Given the description of an element on the screen output the (x, y) to click on. 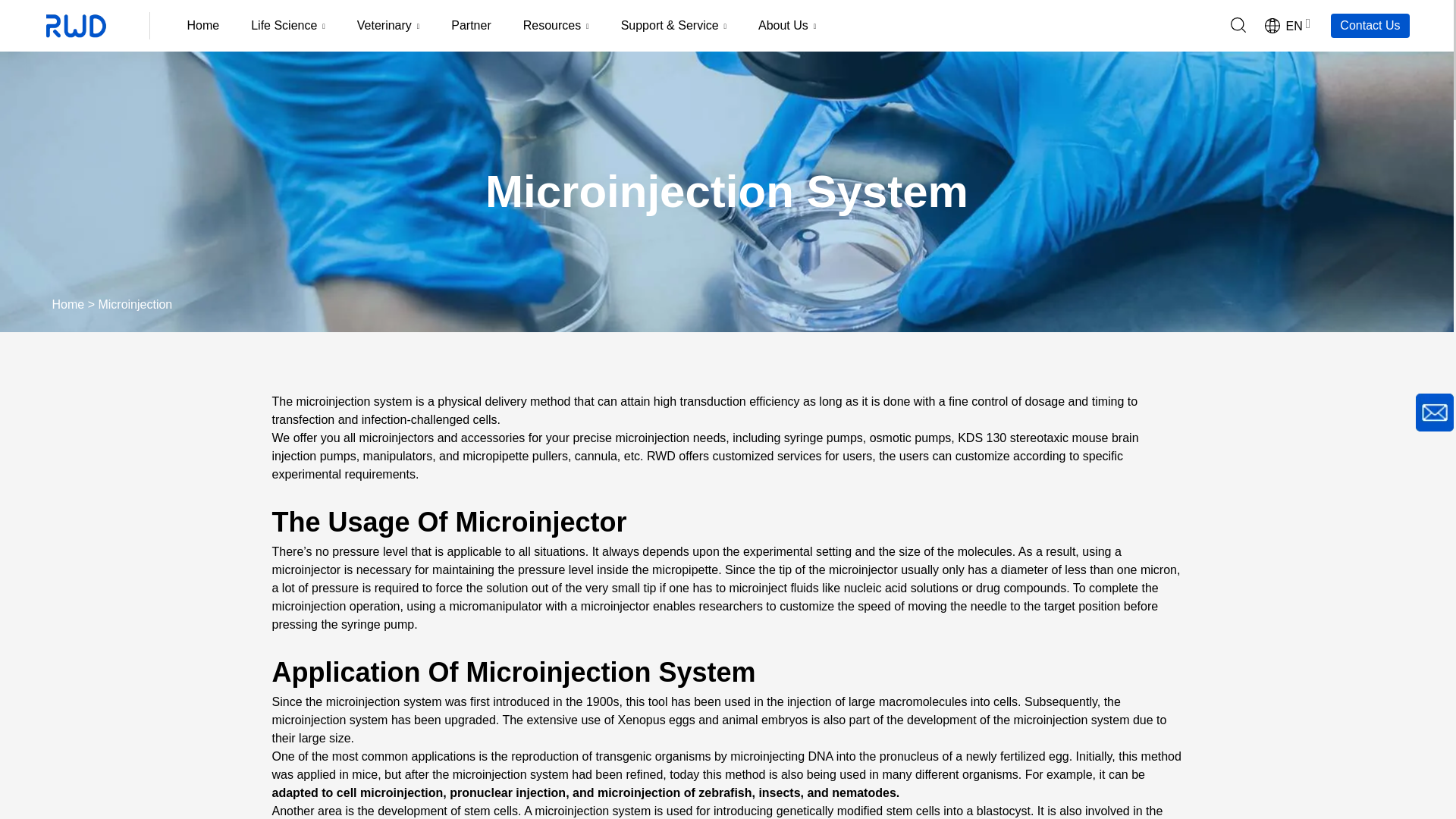
Resources (555, 25)
Life Science (287, 25)
Home (203, 25)
Partner (470, 25)
Contact Us (1369, 24)
About Us (786, 25)
Home (67, 304)
Veterinary (387, 25)
Microinjection (134, 304)
